Given the description of an element on the screen output the (x, y) to click on. 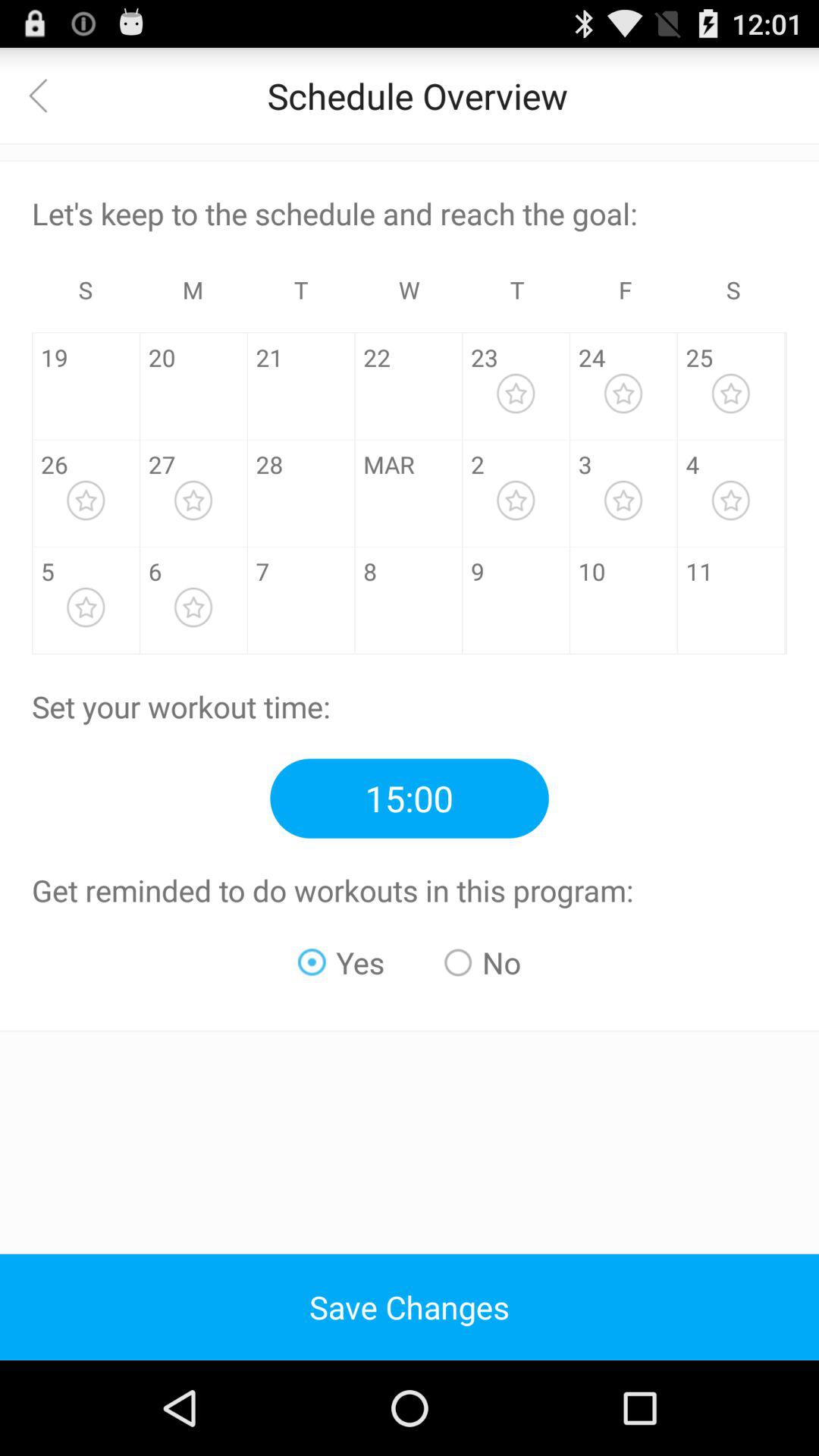
open no (482, 962)
